Given the description of an element on the screen output the (x, y) to click on. 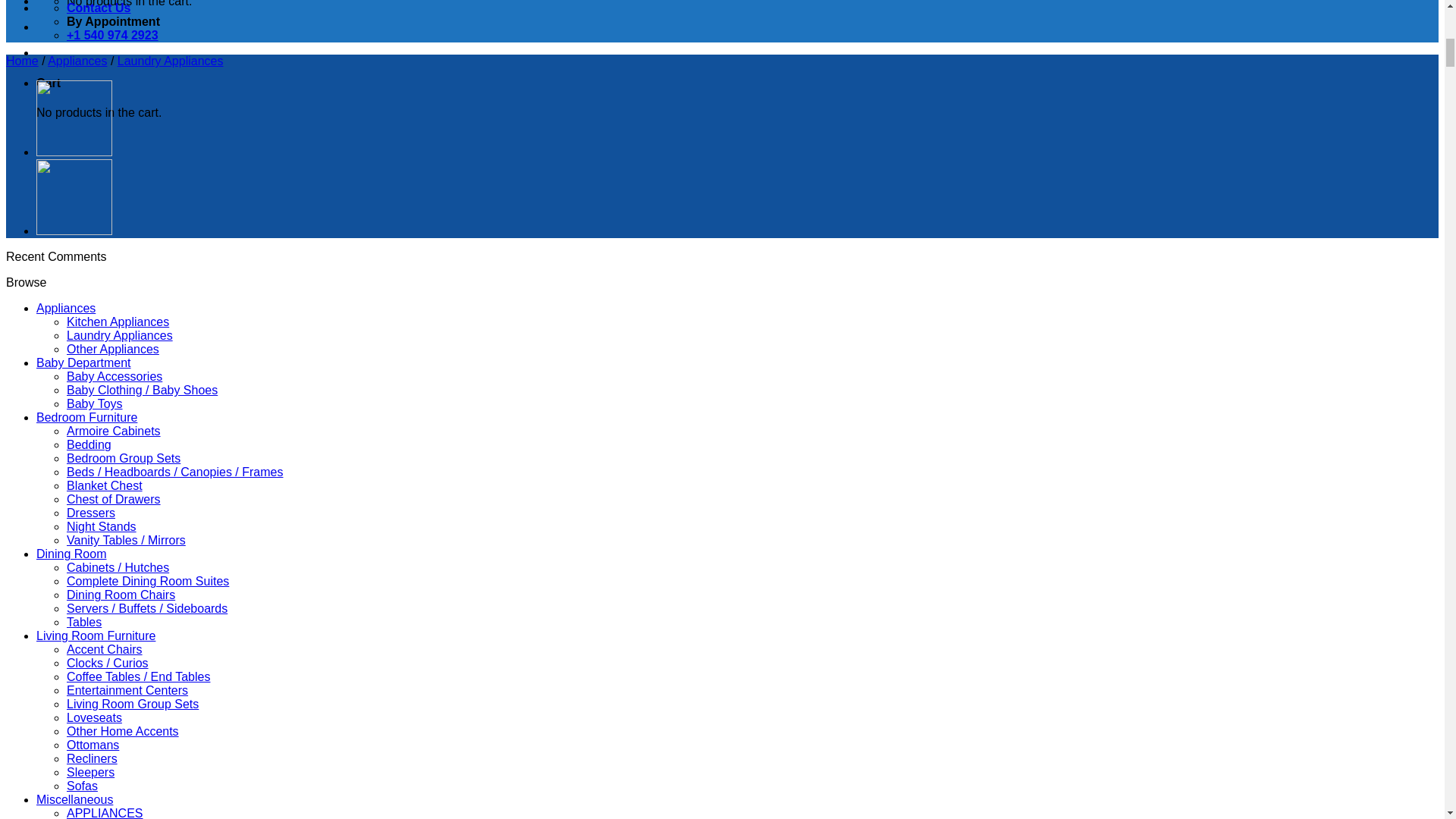
Baby Department (83, 362)
Blanket Chest (104, 485)
Contact Us (98, 7)
Kitchen Appliances (117, 321)
Armoire Cabinets (113, 431)
By Appointment (113, 21)
Frigidaire Stainless Steel Side by Side Refrigerator (74, 230)
Appliances (77, 60)
Laundry Appliances (170, 60)
Appliances (66, 308)
Baby Accessories (113, 376)
Dressers (90, 512)
Chest of Drawers (113, 499)
Bedroom Group Sets (123, 458)
Baby Toys (94, 403)
